Given the description of an element on the screen output the (x, y) to click on. 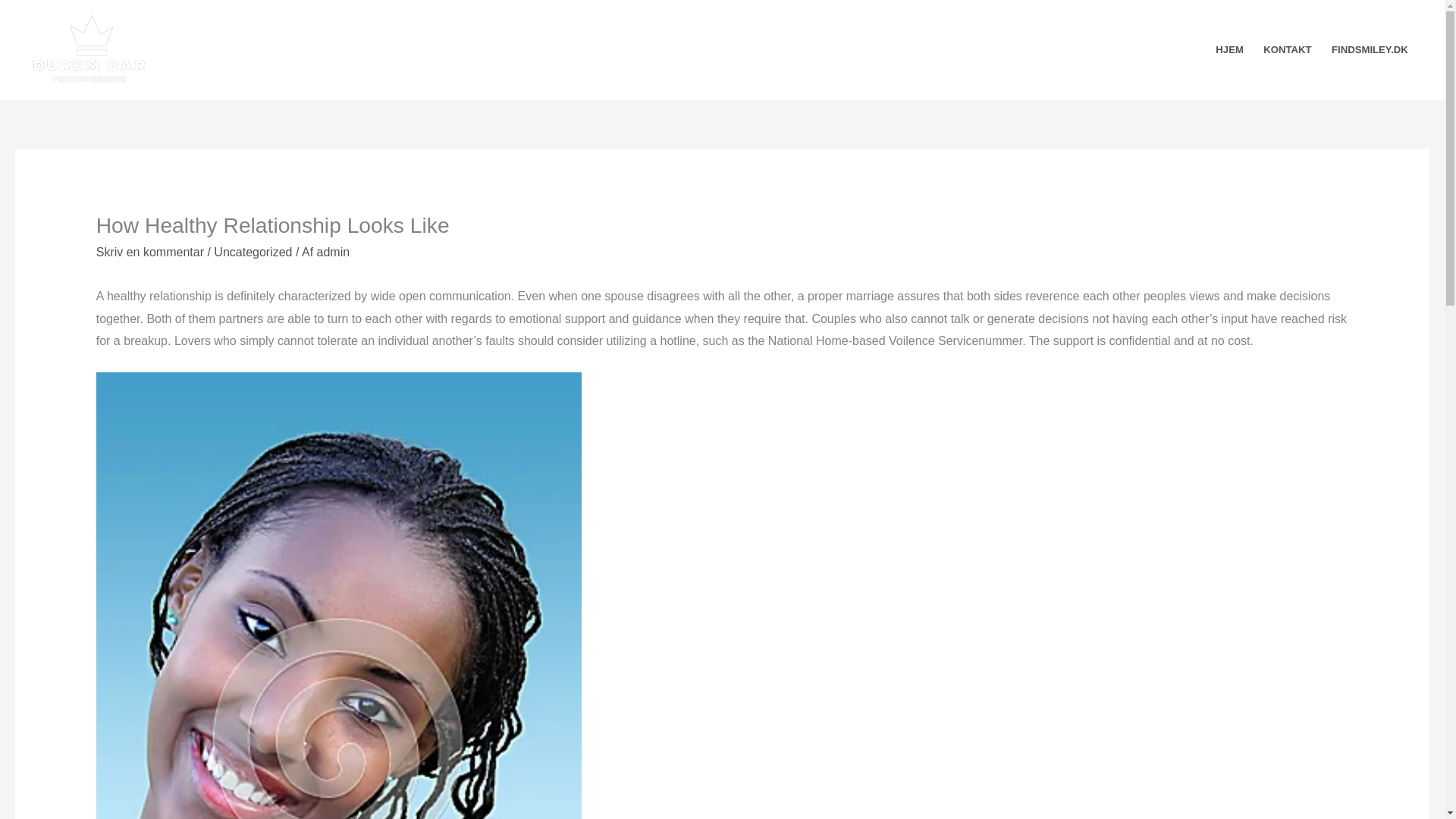
View all posts by admin (333, 251)
admin (333, 251)
KONTAKT (1287, 49)
Skriv en kommentar (149, 251)
HJEM (1229, 49)
FINDSMILEY.DK (1370, 49)
Uncategorized (253, 251)
